Given the description of an element on the screen output the (x, y) to click on. 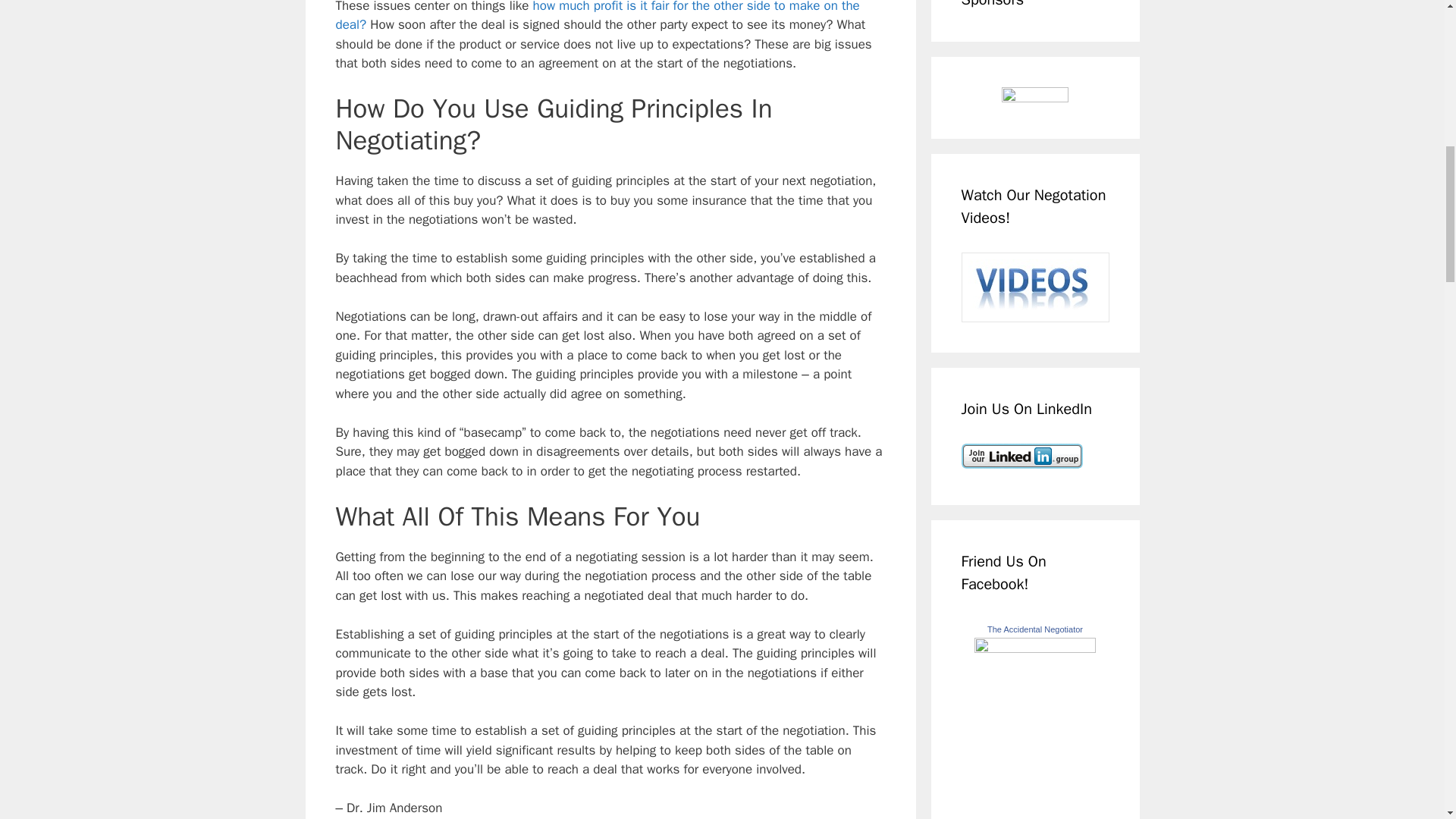
The Accidental Negotiator (1035, 648)
How much profit is fair for a business to make? (596, 16)
The Accidental Negotiator (1035, 628)
The Accidental Negotiator (1035, 628)
